Given the description of an element on the screen output the (x, y) to click on. 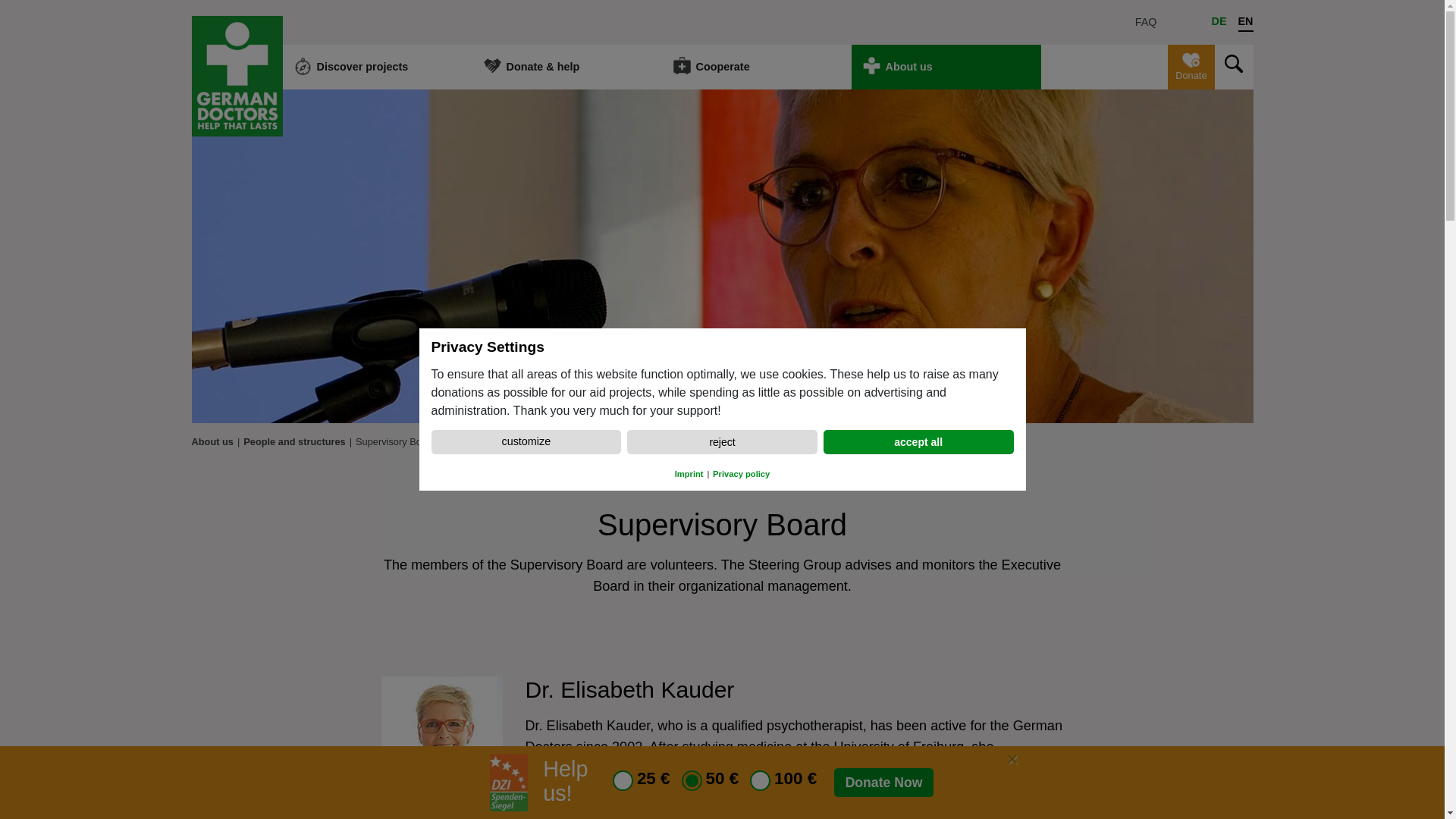
Meaningful donations: Help and save lives (566, 67)
25 (622, 780)
50 (691, 780)
Discover projects (376, 67)
100 (759, 780)
About us (945, 67)
FAQ (1146, 22)
Cooperate (755, 67)
